Given the description of an element on the screen output the (x, y) to click on. 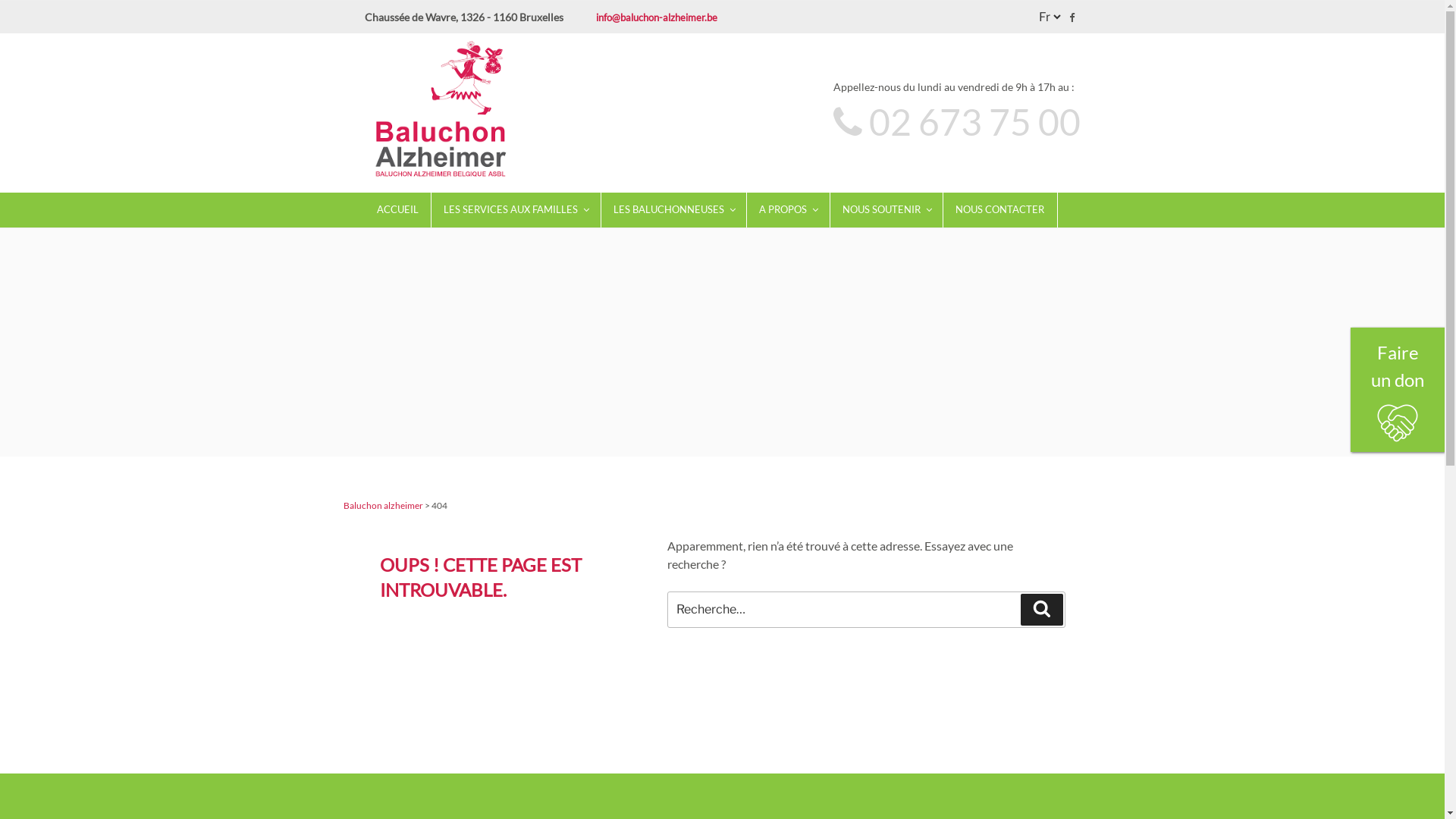
Recherche Element type: text (1041, 608)
Baluchon alzheimer Element type: text (382, 504)
ACCUEIL Element type: text (397, 209)
A PROPOS Element type: text (787, 209)
LES BALUCHONNEUSES Element type: text (673, 209)
LES SERVICES AUX FAMILLES Element type: text (515, 209)
info@baluchon-alzheimer.be Element type: text (656, 16)
NOUS CONTACTER Element type: text (1000, 209)
Aller au contenu principal Element type: text (0, 0)
NOUS SOUTENIR Element type: text (885, 209)
